Given the description of an element on the screen output the (x, y) to click on. 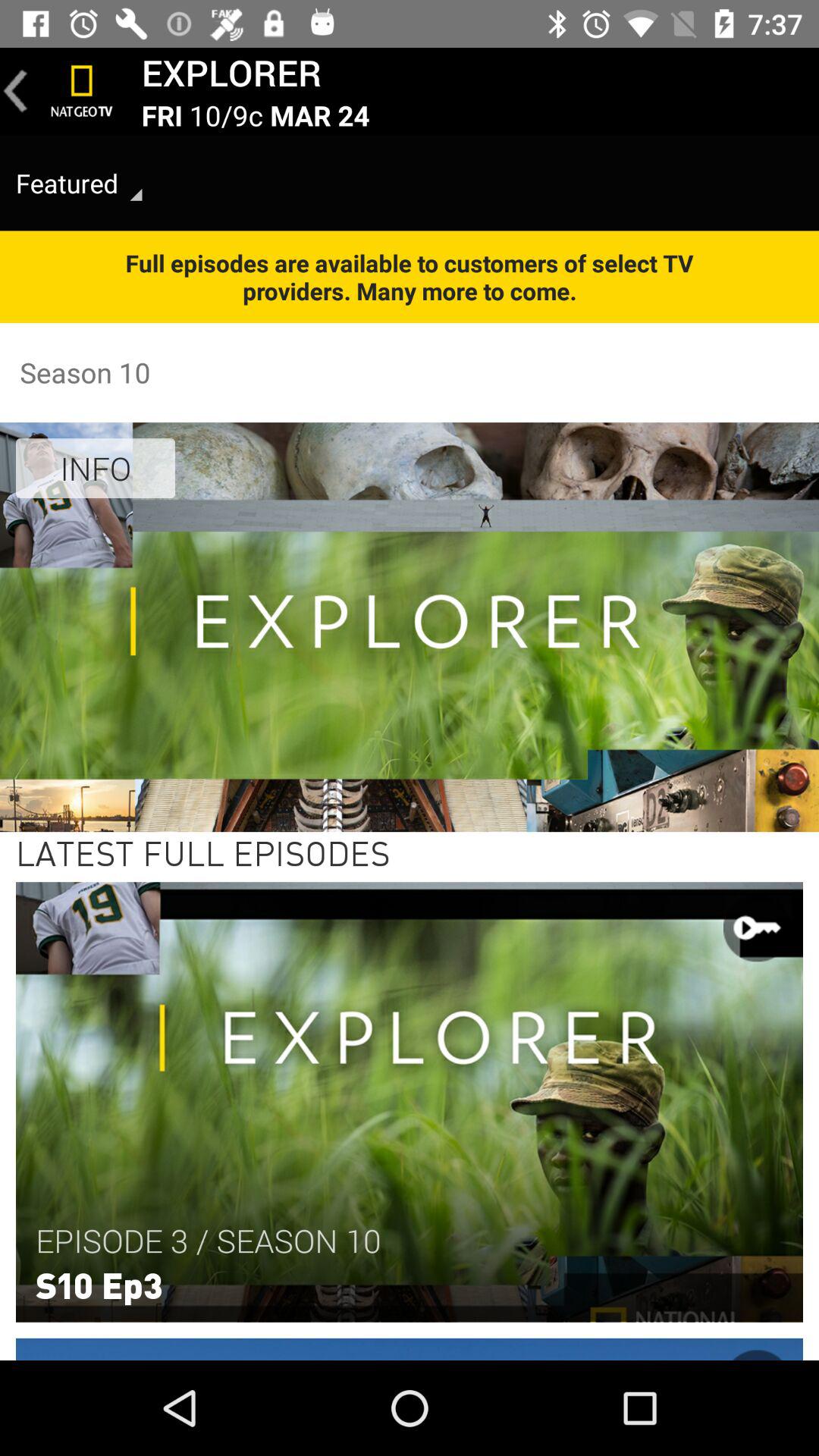
click icon above featured item (81, 90)
